Given the description of an element on the screen output the (x, y) to click on. 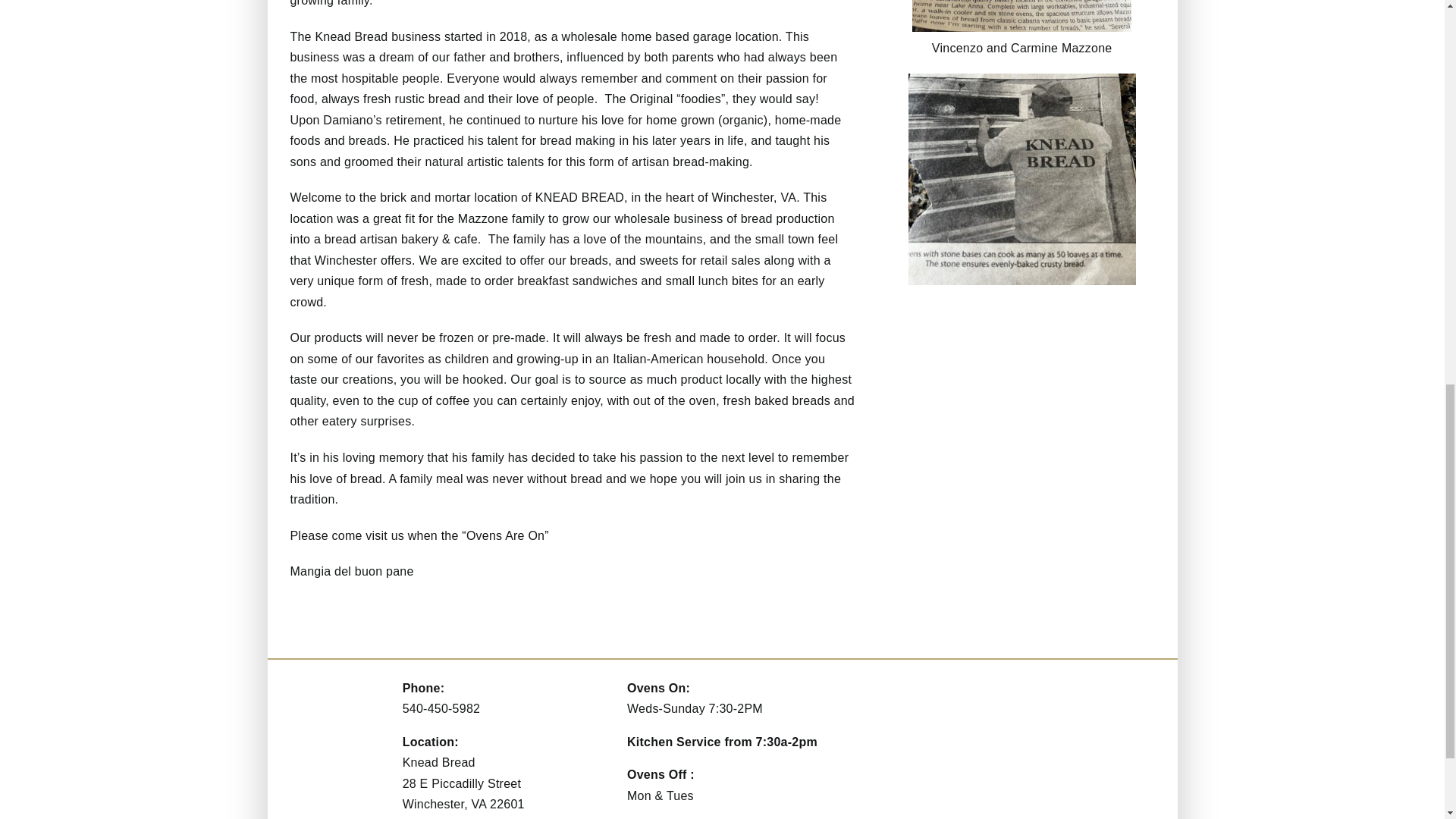
history-pic1 (1021, 78)
